Given the description of an element on the screen output the (x, y) to click on. 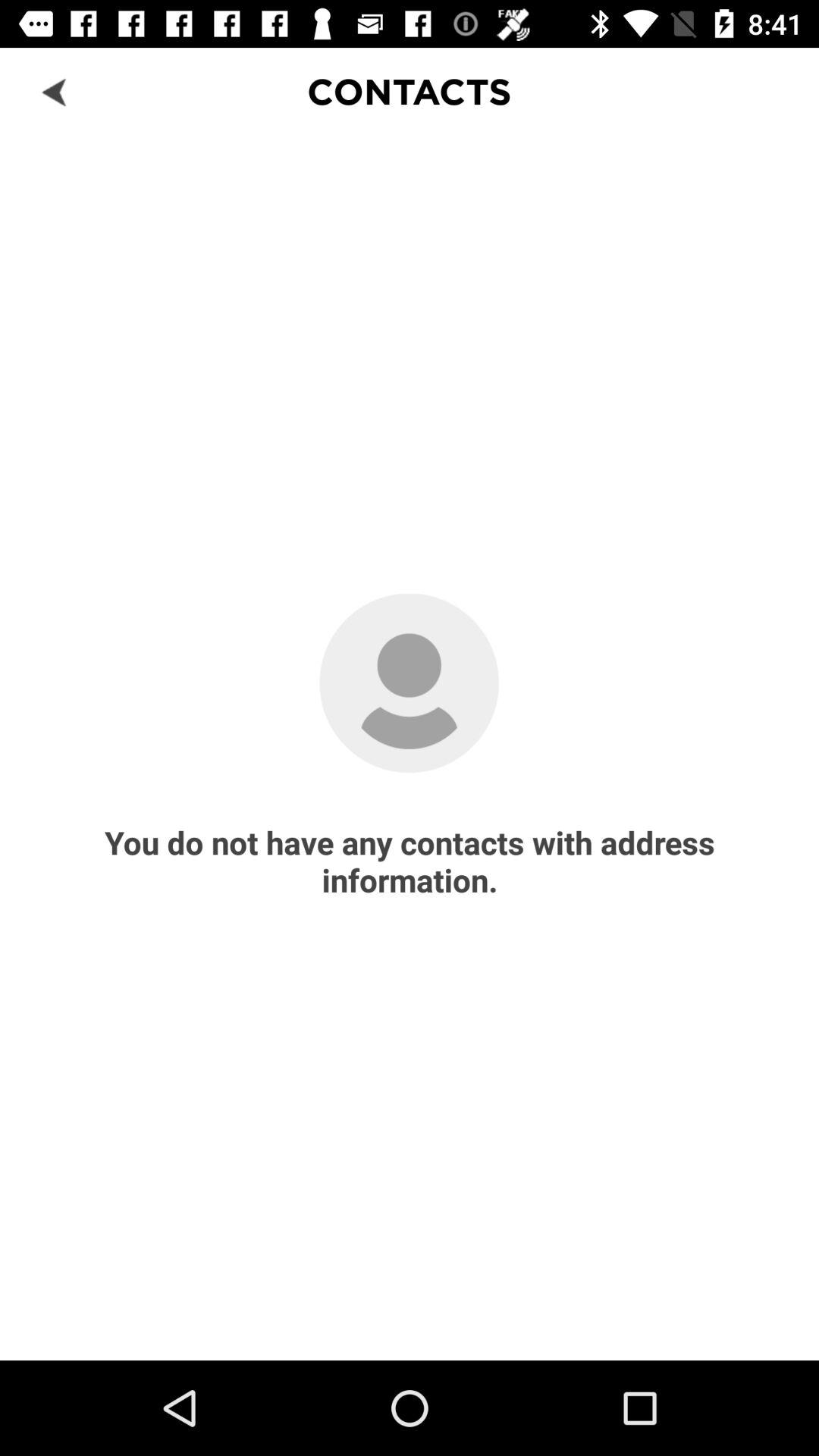
go previous (55, 91)
